Given the description of an element on the screen output the (x, y) to click on. 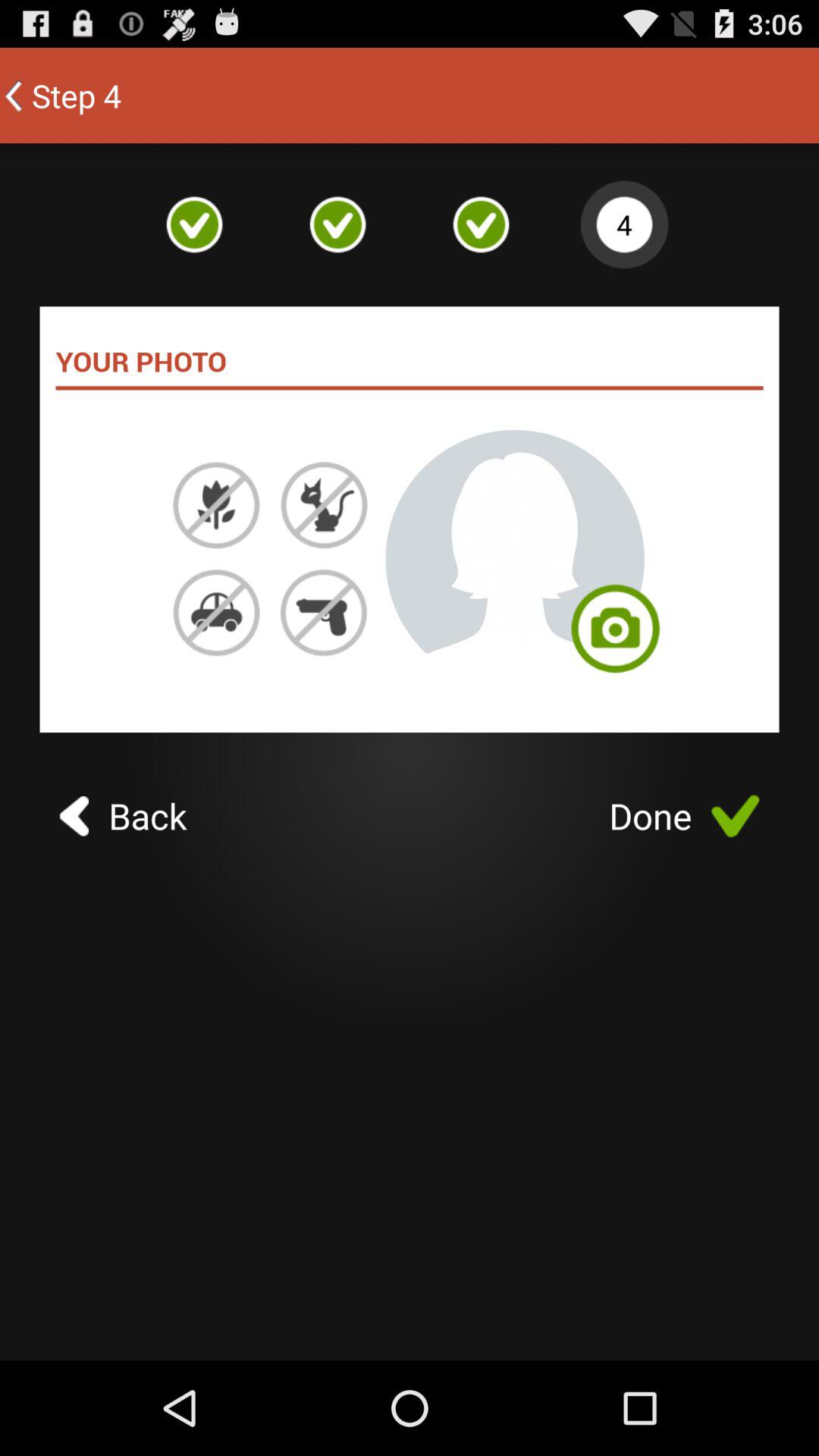
scroll to back item (123, 815)
